Given the description of an element on the screen output the (x, y) to click on. 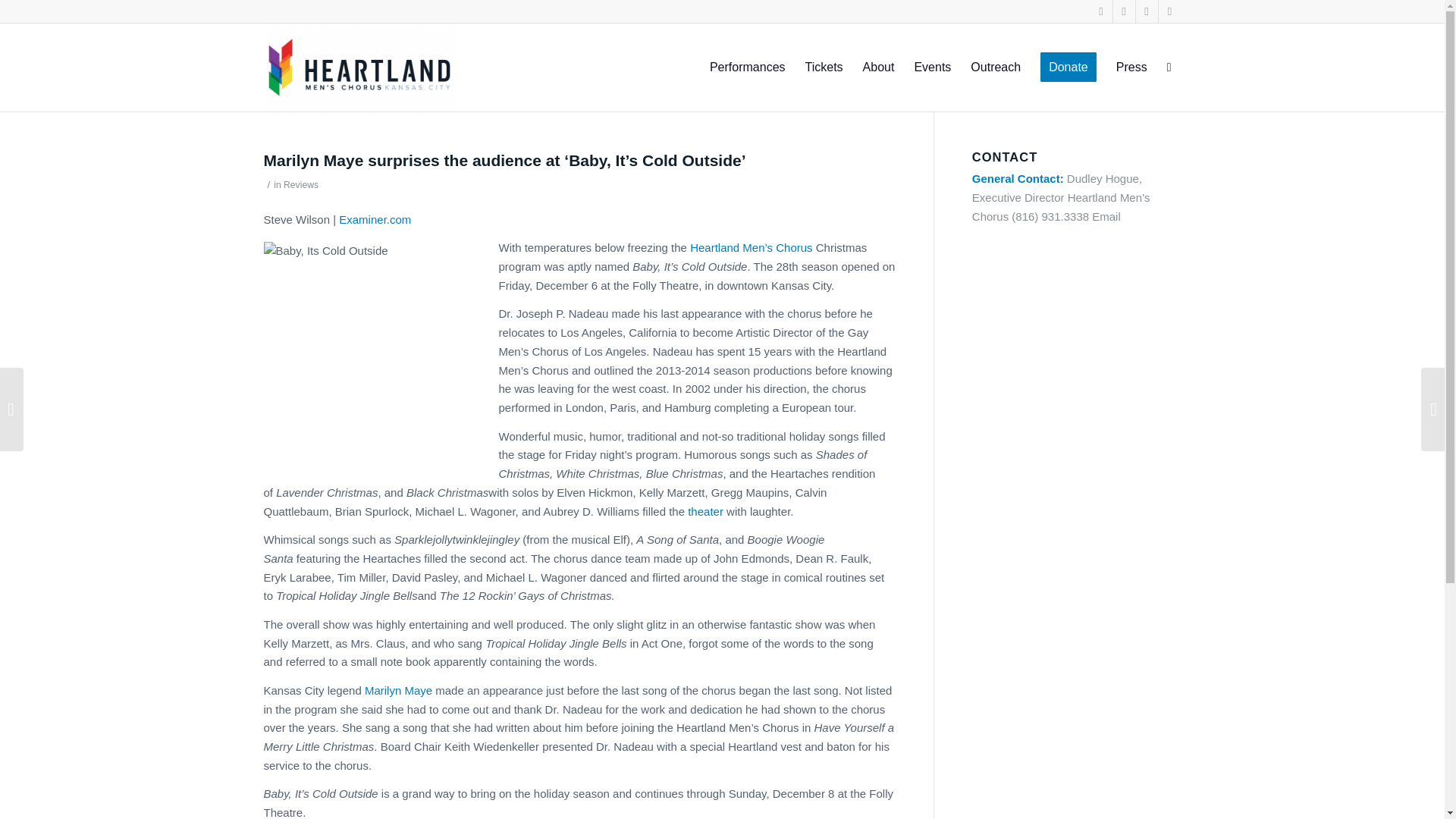
Donate (1068, 67)
Performances (747, 67)
Examiner.com (374, 219)
theater (705, 511)
Instagram (1169, 11)
Reviews (300, 184)
Twitter (1124, 11)
Events (932, 67)
Tickets (823, 67)
Facebook (1101, 11)
Email (1106, 215)
About (878, 67)
Youtube (1146, 11)
Outreach (995, 67)
Press (1131, 67)
